Given the description of an element on the screen output the (x, y) to click on. 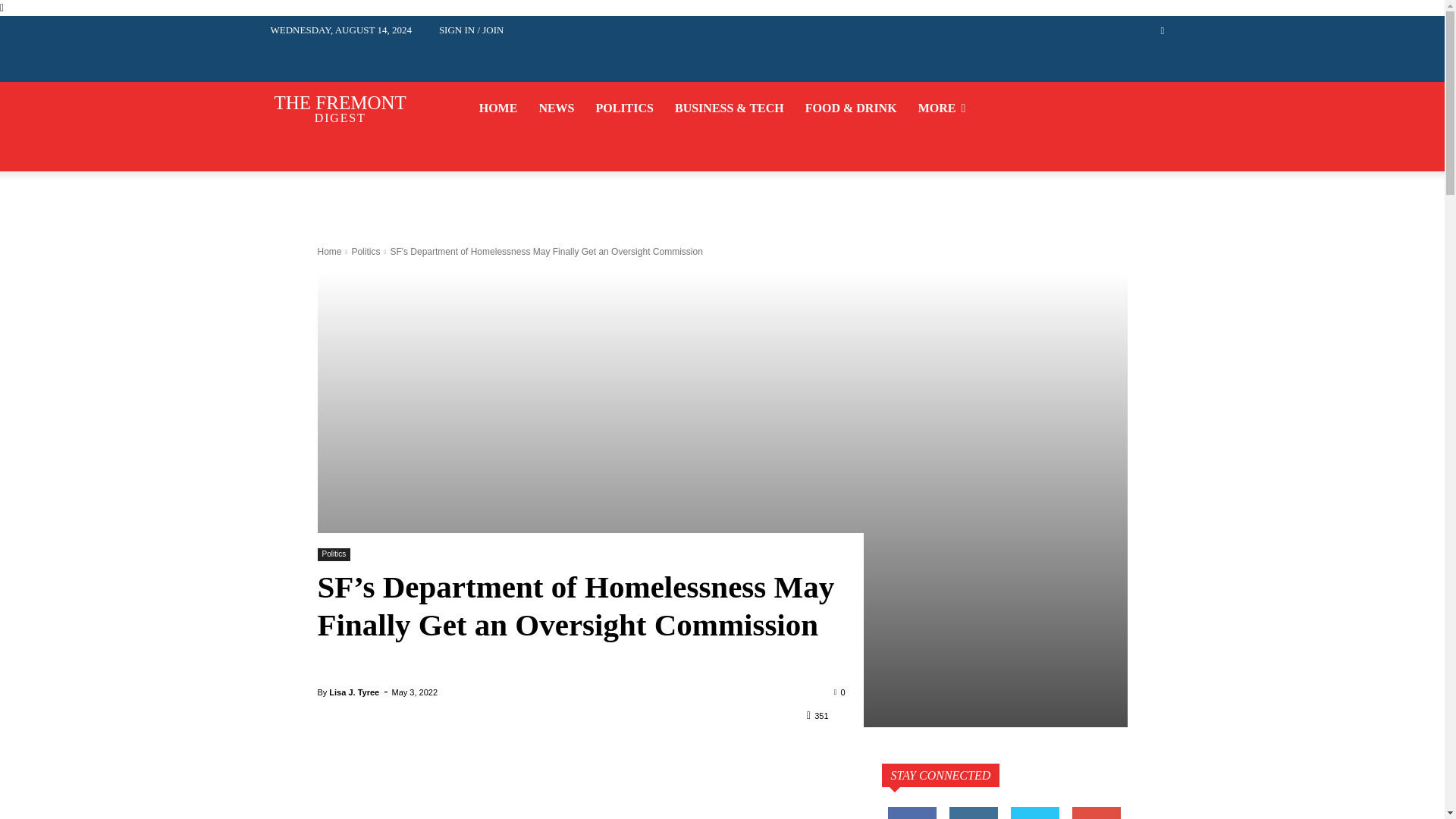
POLITICS (336, 108)
View all posts in Politics (624, 108)
